Given the description of an element on the screen output the (x, y) to click on. 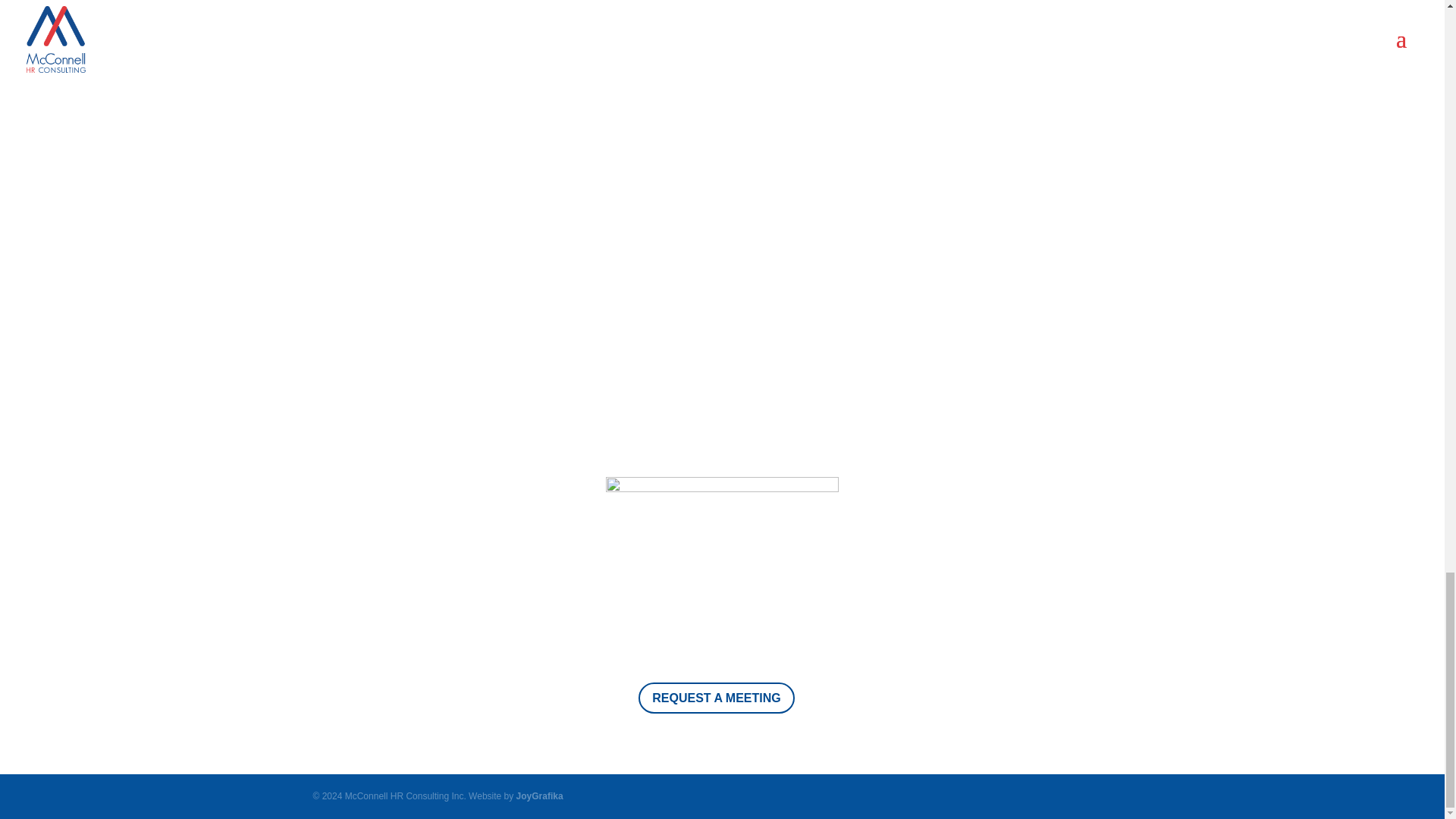
REQUEST A MEETING (716, 697)
Organization Architects (563, 367)
HR Outsourcing (898, 367)
HR Strategy (663, 367)
Compensation Management (776, 367)
JoyGrafika (539, 796)
